Given the description of an element on the screen output the (x, y) to click on. 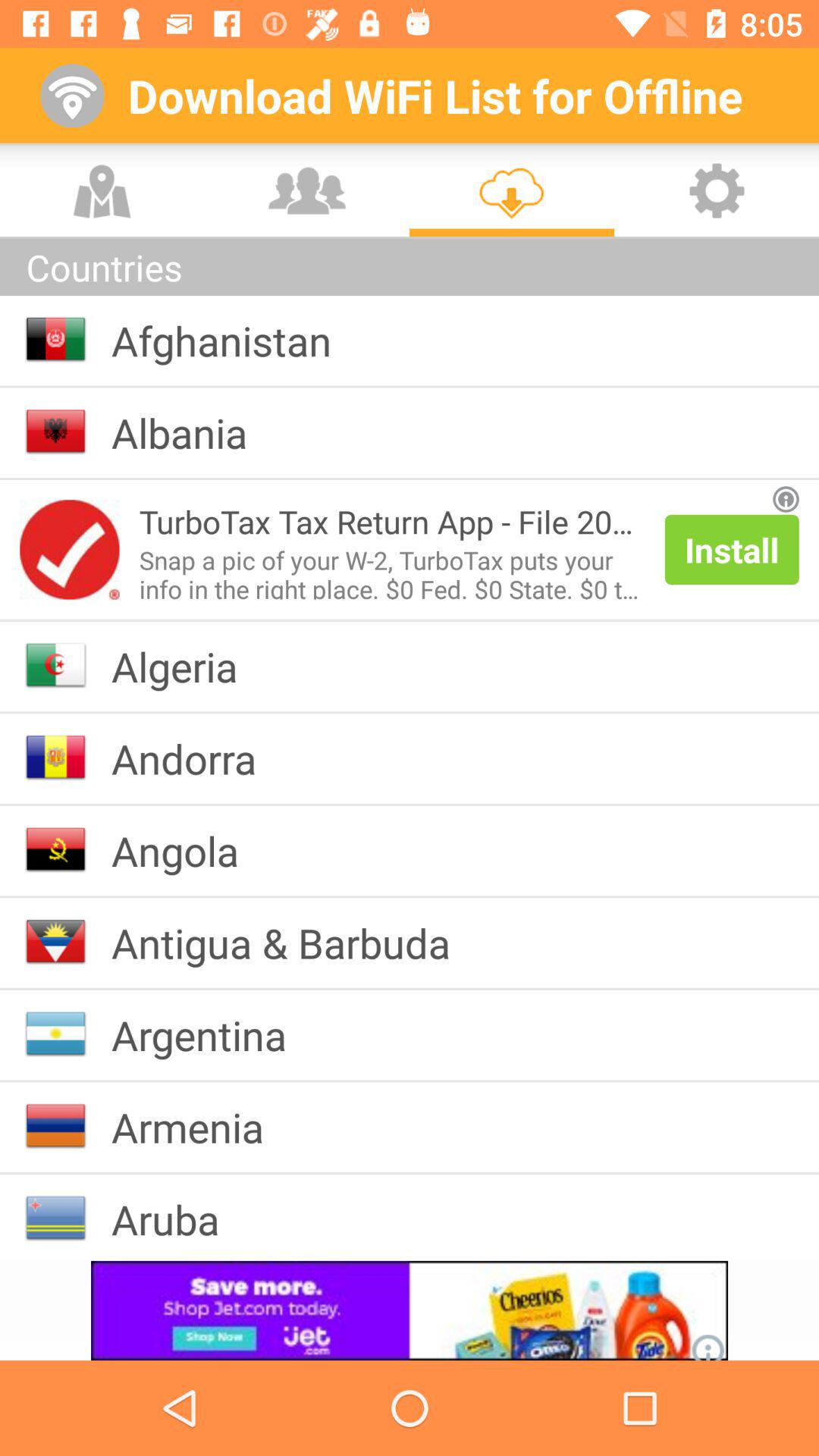
launch app to the right of turbotax tax return item (731, 549)
